Given the description of an element on the screen output the (x, y) to click on. 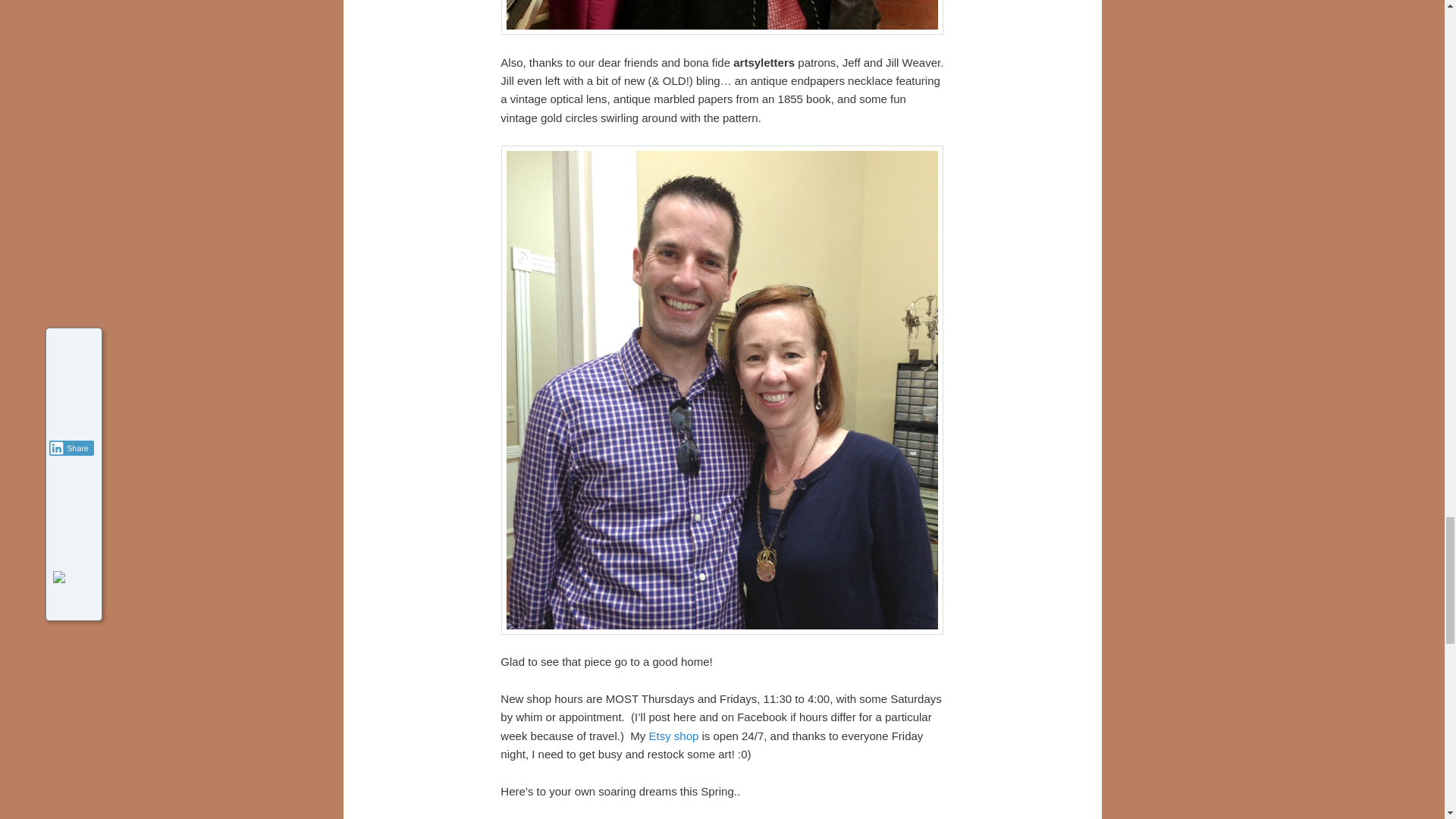
Etsy shop (672, 735)
